Given the description of an element on the screen output the (x, y) to click on. 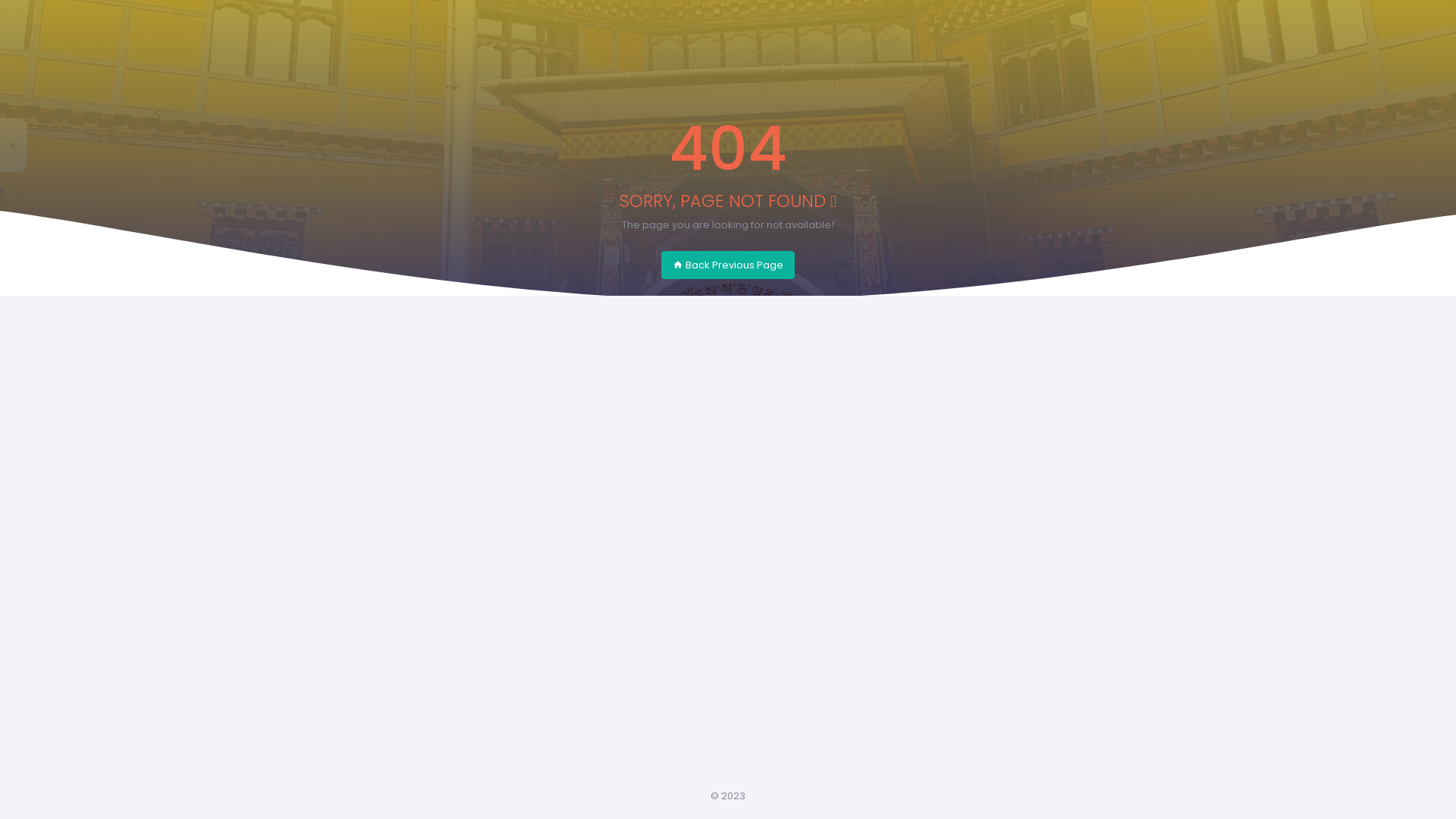
Back Previous Page Element type: text (728, 265)
